Given the description of an element on the screen output the (x, y) to click on. 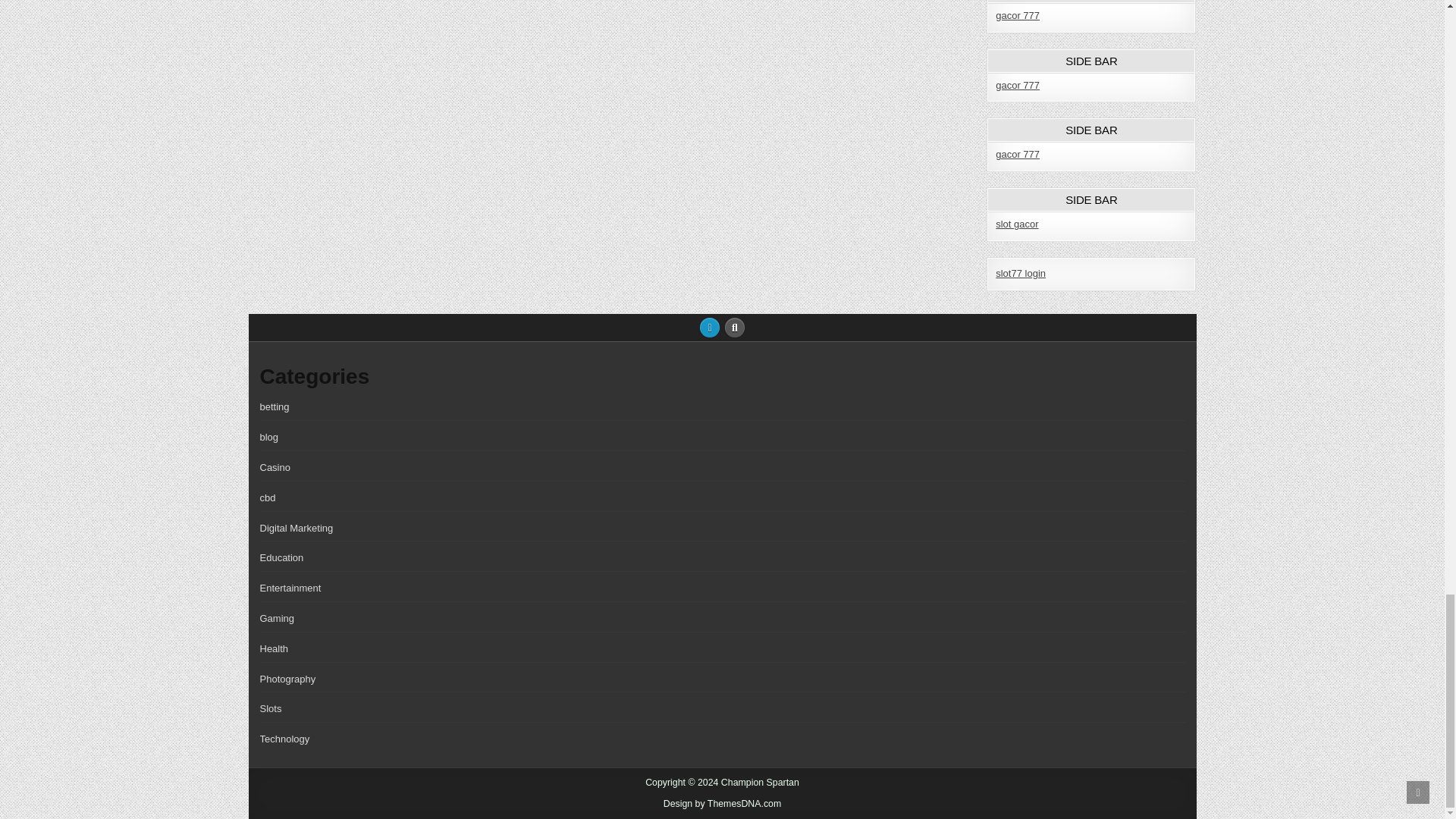
Search (735, 327)
